Given the description of an element on the screen output the (x, y) to click on. 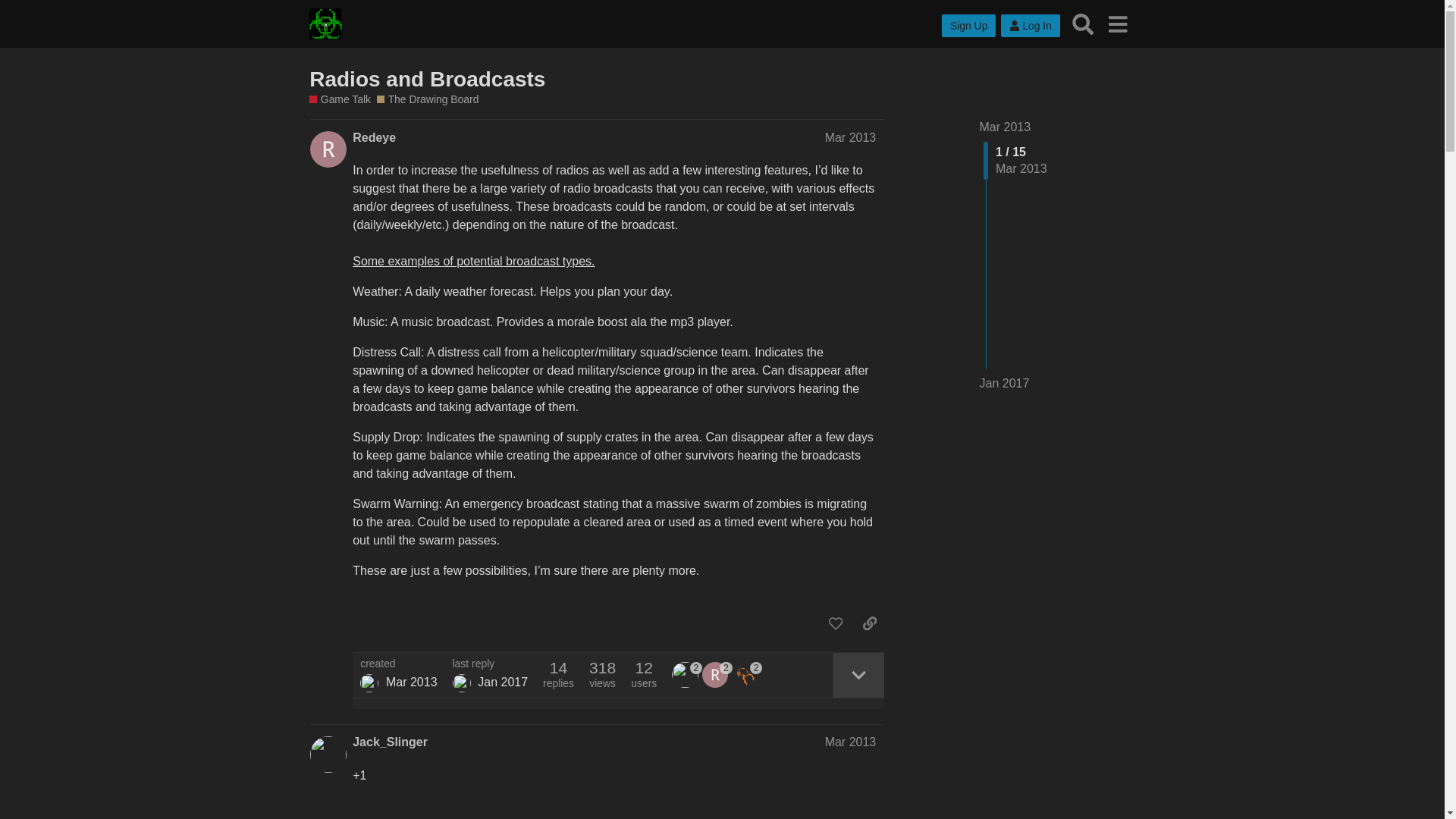
Jump to the first post (1004, 126)
Post date (850, 137)
Redeye (368, 683)
last reply (490, 664)
Mar 2013 (850, 137)
menu (1117, 23)
Search (1082, 23)
Mar 14, 2013 10:19 pm (411, 681)
Log In (1030, 25)
2 (747, 674)
2 (716, 674)
Jan 29, 2017 3:42 am (502, 681)
Redeye (374, 137)
Sign Up (968, 25)
